Given the description of an element on the screen output the (x, y) to click on. 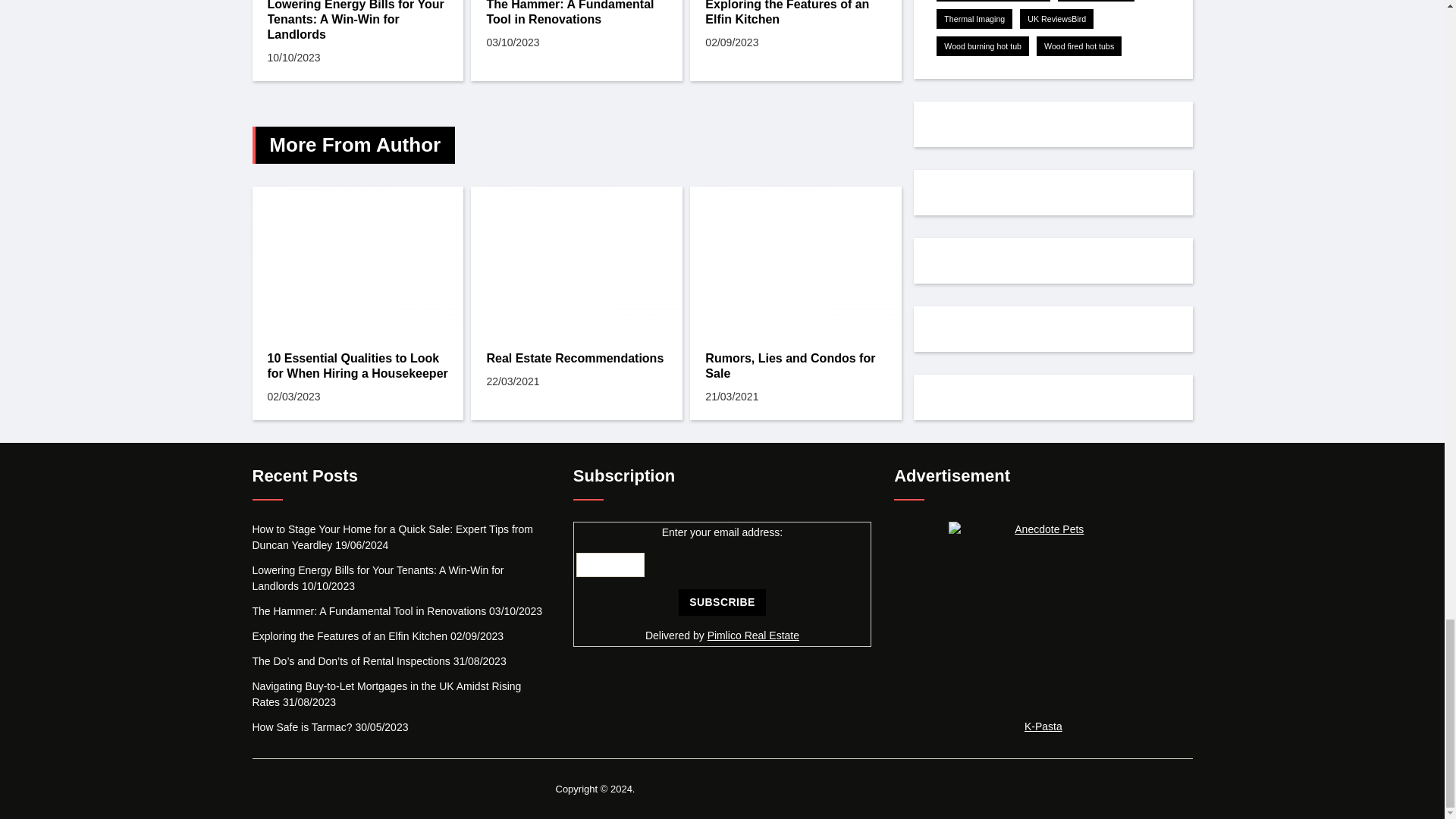
Real Estate Recommendations (576, 358)
10 Essential Qualities to Look for When Hiring a Housekeeper (357, 260)
Real Estate Recommendations (576, 260)
Rumors, Lies and Condos for Sale (795, 260)
10 Essential Qualities to Look for When Hiring a Housekeeper (357, 366)
Subscribe (721, 602)
Exploring the Features of an Elfin Kitchen (795, 13)
The Hammer: A Fundamental Tool in Renovations (576, 13)
Rumors, Lies and Condos for Sale (795, 366)
